Given the description of an element on the screen output the (x, y) to click on. 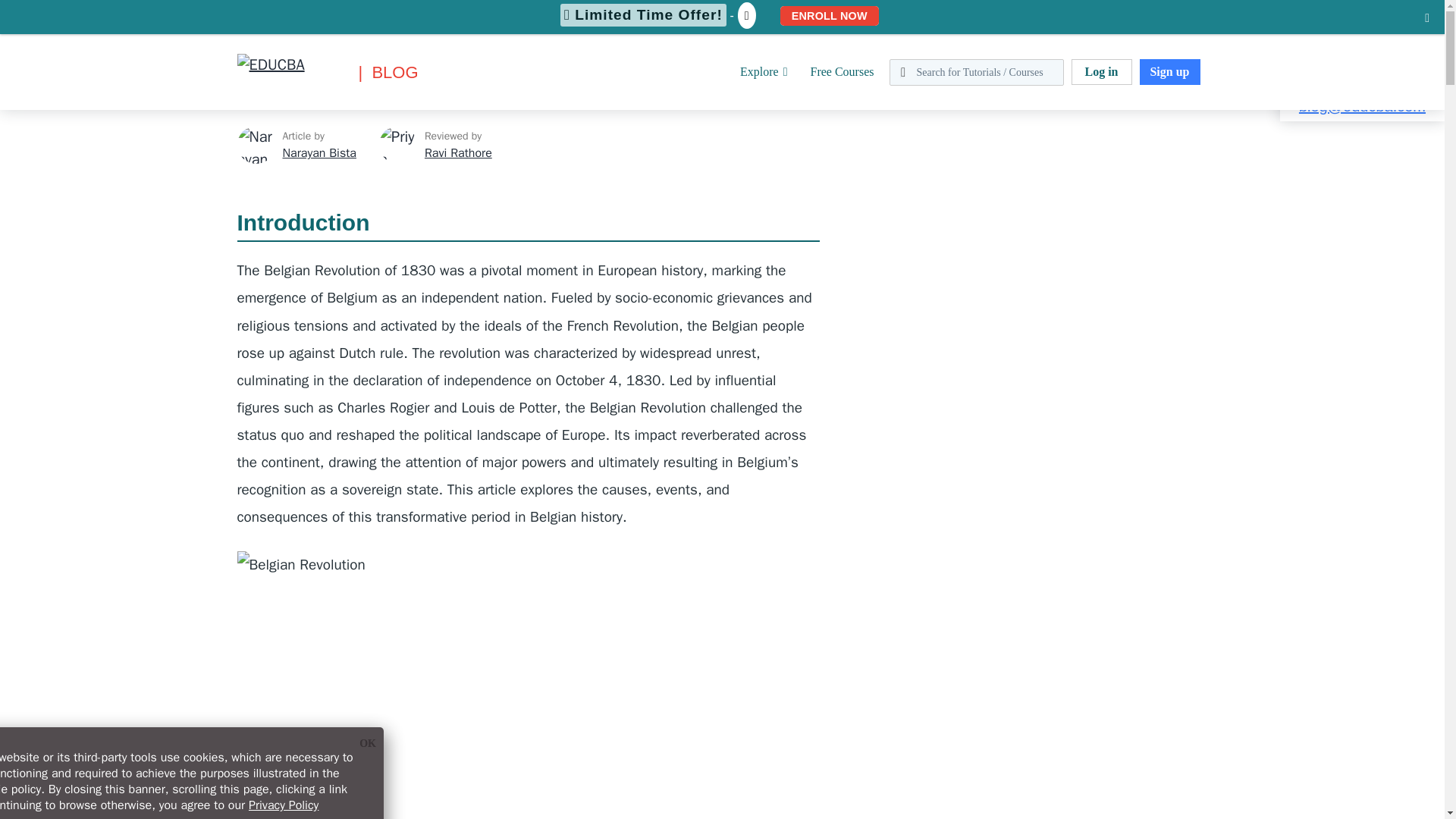
Privacy Policy (283, 805)
Historical Monuments (173, 9)
Miscellaneous (73, 9)
EDUCBA (259, 96)
Explore (763, 72)
Search (43, 19)
Log in (1100, 71)
Ravi Rathore (458, 152)
Home (13, 9)
Narayan Bista (318, 152)
